Given the description of an element on the screen output the (x, y) to click on. 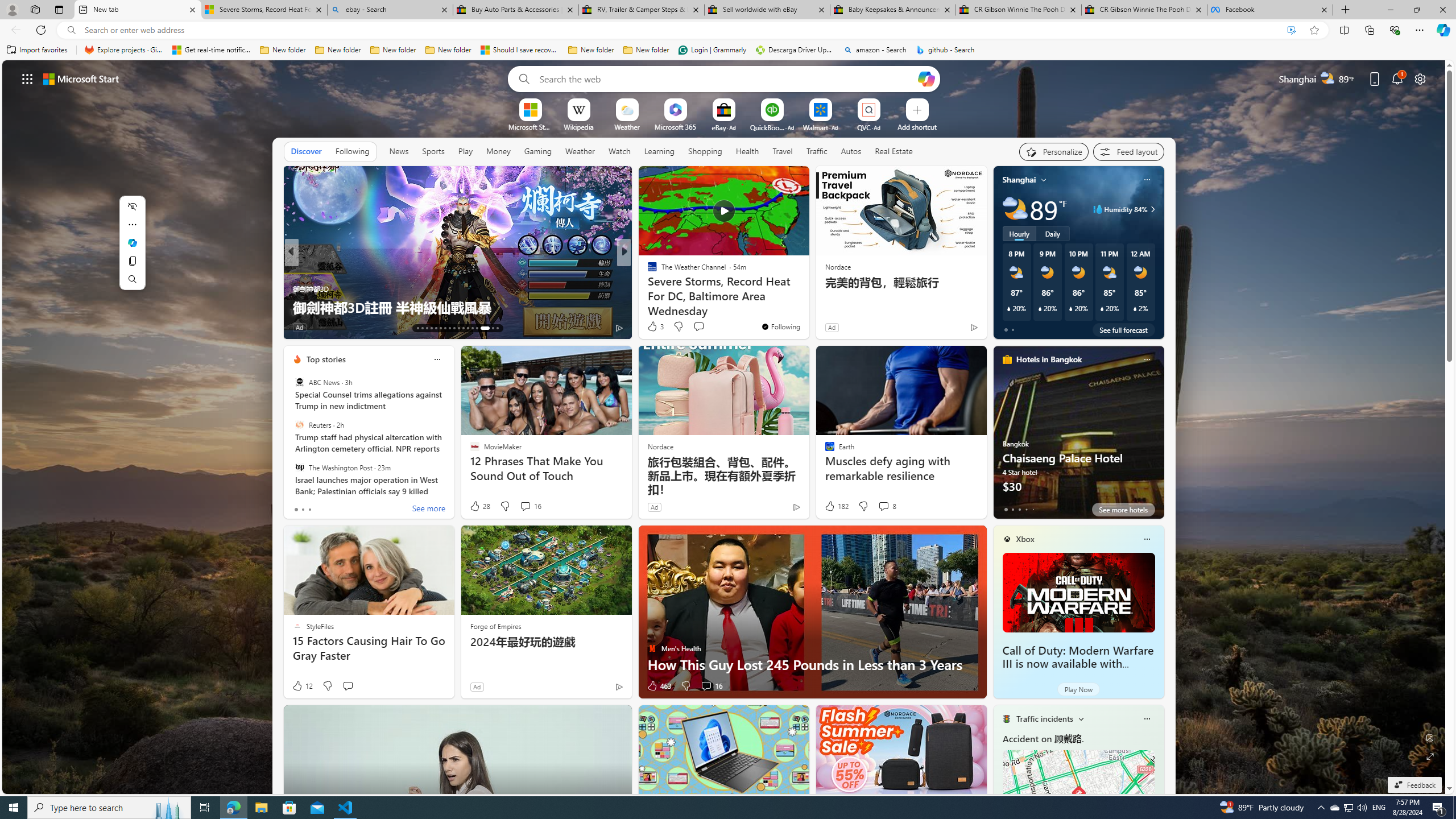
Daily (1052, 233)
Enhance video (1291, 29)
Dislike (685, 685)
github - Search (945, 49)
My location (1043, 179)
Split screen (1344, 29)
Discover (306, 151)
Descarga Driver Updater (794, 49)
